Given the description of an element on the screen output the (x, y) to click on. 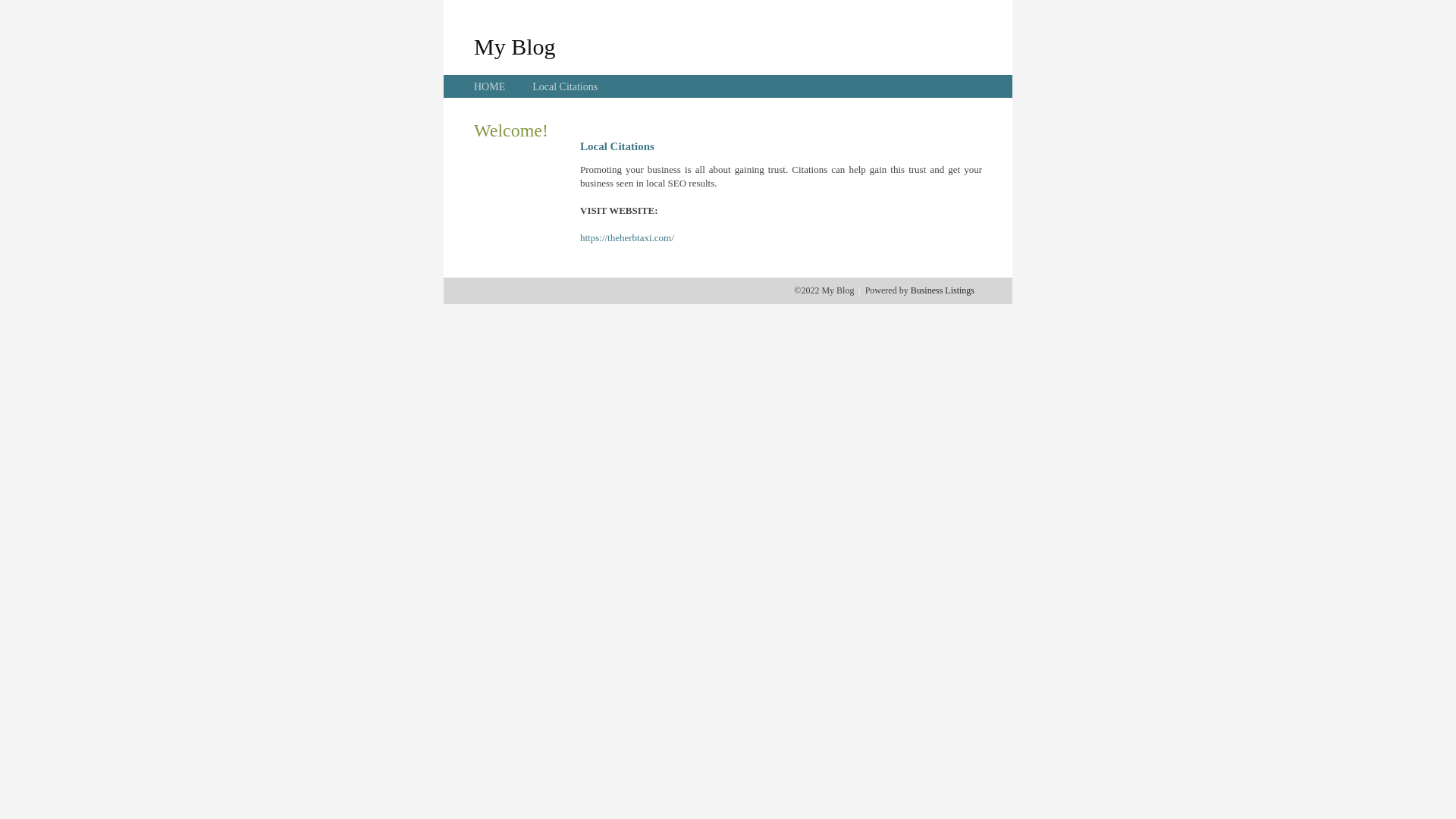
HOME Element type: text (489, 86)
https://theherbtaxi.com/ Element type: text (627, 237)
Local Citations Element type: text (564, 86)
Business Listings Element type: text (942, 290)
My Blog Element type: text (514, 46)
